Given the description of an element on the screen output the (x, y) to click on. 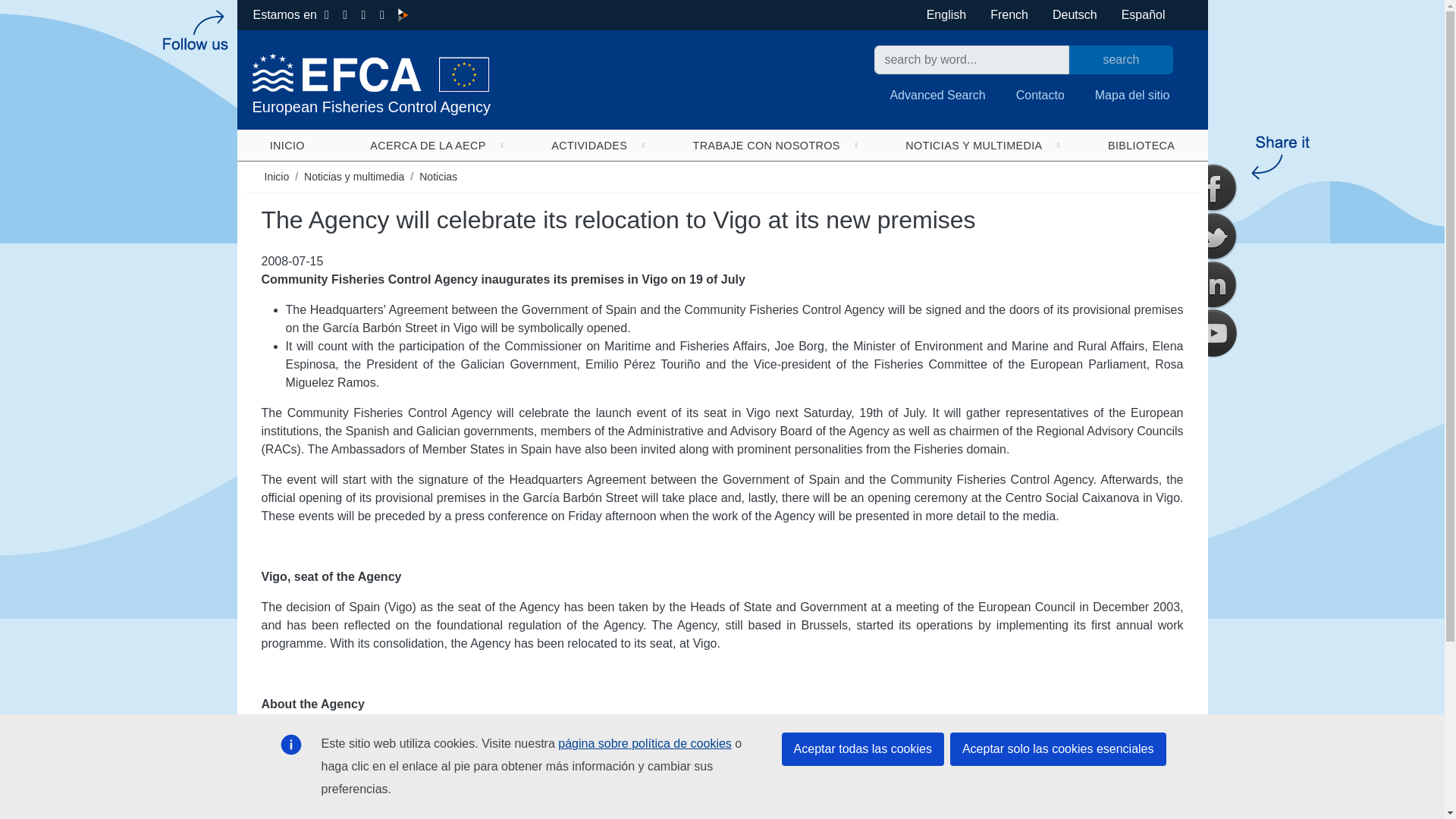
Aceptar todas las cookies (862, 748)
European Fisheries Control Agency (474, 83)
twitter (1213, 236)
Deutsch (1074, 14)
linkedin (1213, 285)
youtube (1213, 333)
ACERCA DE LA AECP (427, 145)
facebook (1213, 187)
Contacto (1040, 95)
search (1120, 59)
French (1008, 14)
Inicio (474, 83)
English (946, 14)
Estamos en (285, 14)
Advanced Search (937, 95)
